Given the description of an element on the screen output the (x, y) to click on. 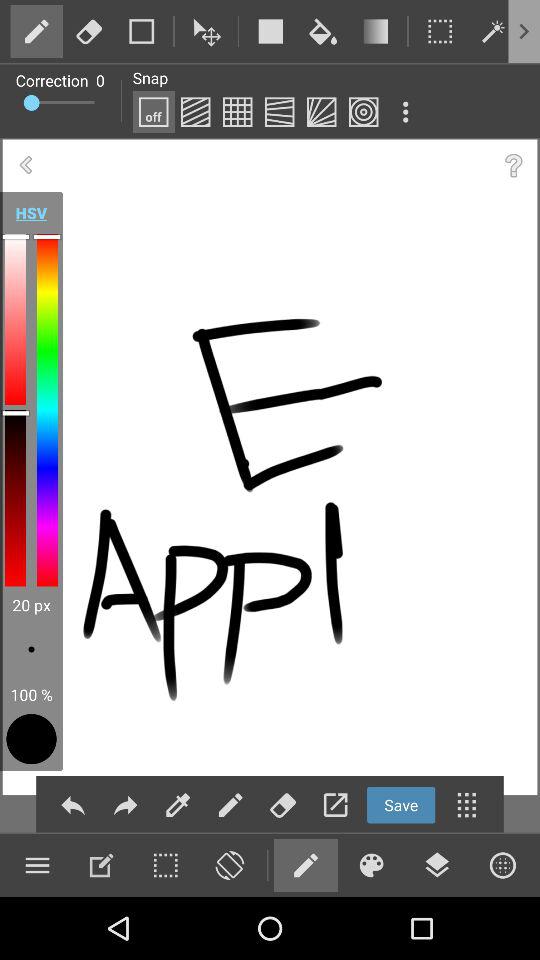
edit (36, 31)
